Given the description of an element on the screen output the (x, y) to click on. 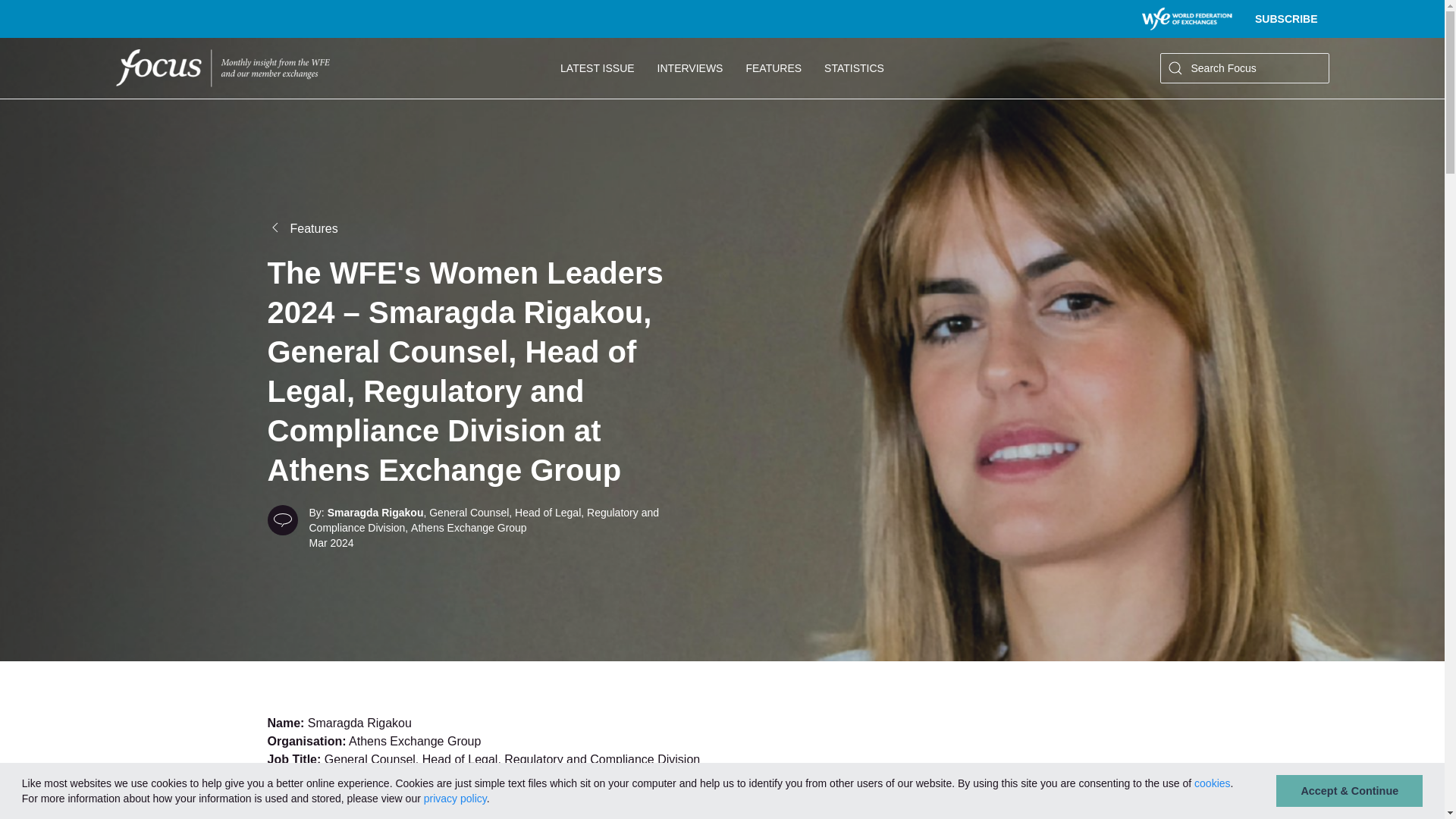
Privacy Policy (454, 798)
SUBSCRIBE (1285, 18)
FEATURES (772, 67)
privacy policy (454, 798)
Features (368, 229)
STATISTICS (853, 67)
The World Federation of Exchanegs logo (222, 67)
WFE Focus logo (1186, 18)
LATEST ISSUE (597, 67)
INTERVIEWS (690, 67)
Cookie Policy (1211, 783)
cookies (1211, 783)
